Given the description of an element on the screen output the (x, y) to click on. 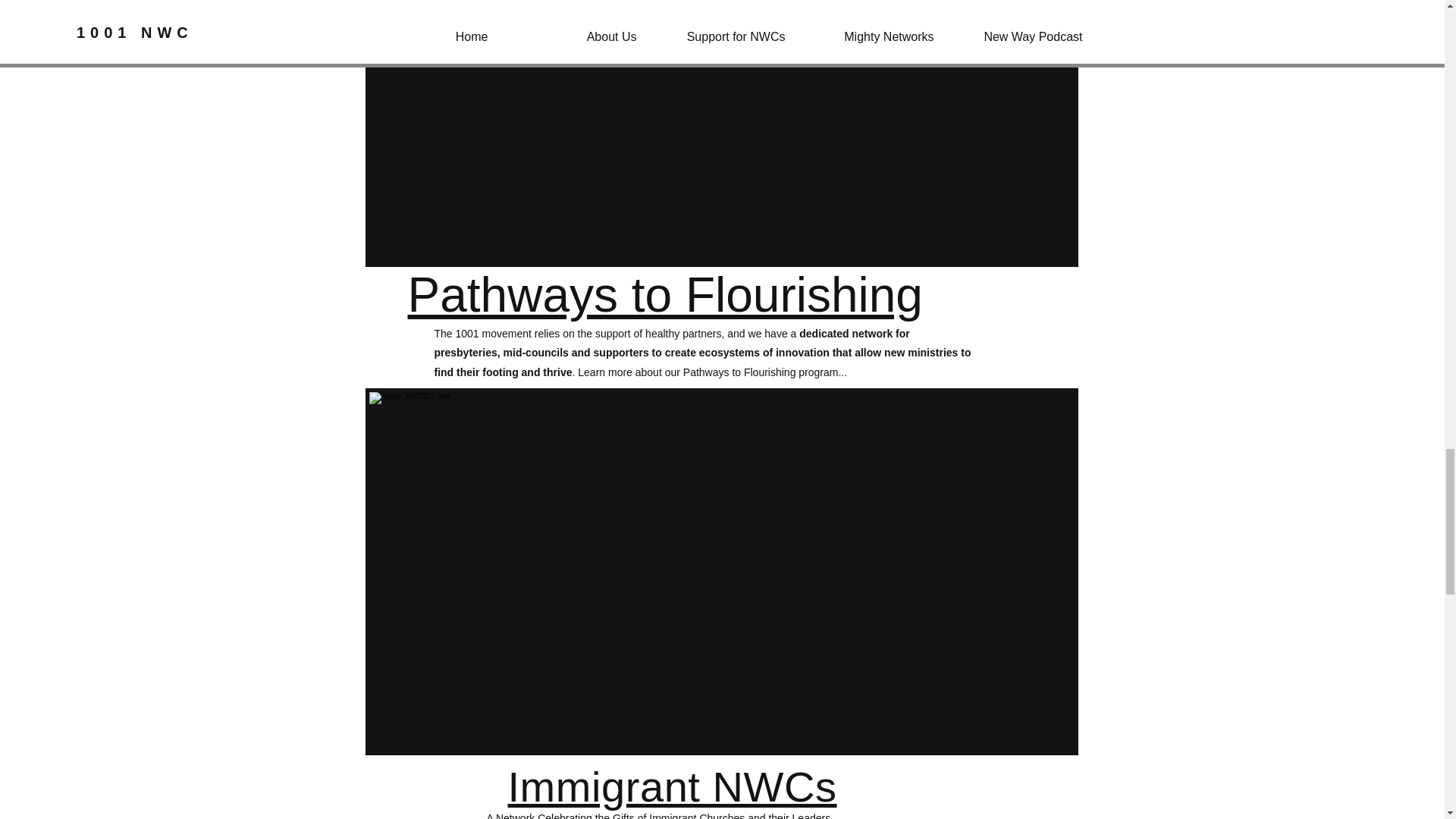
Immigrant NWCs (672, 786)
Pathways to Flourishing (665, 294)
